Given the description of an element on the screen output the (x, y) to click on. 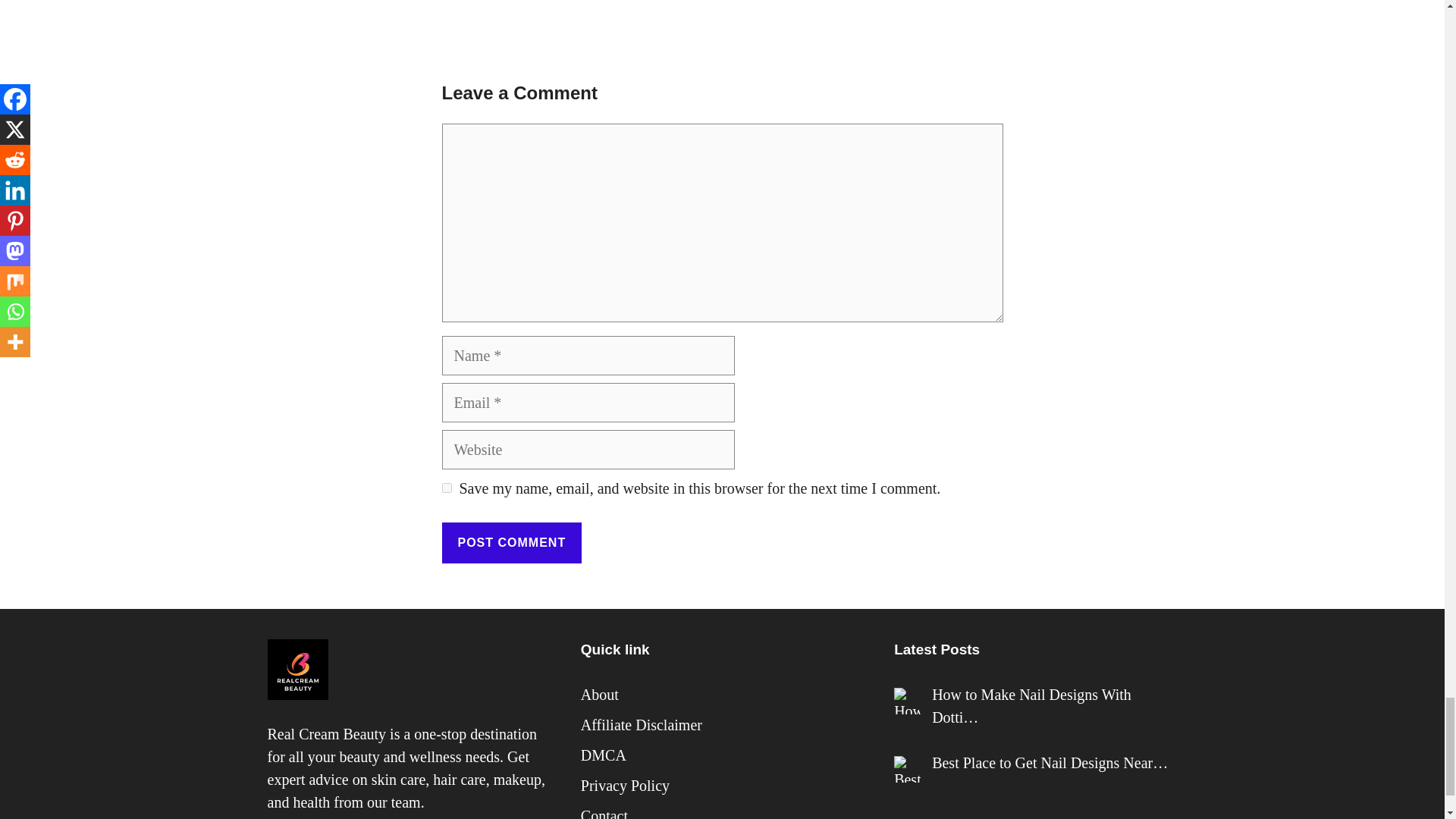
Post Comment (510, 542)
yes (446, 488)
